Given the description of an element on the screen output the (x, y) to click on. 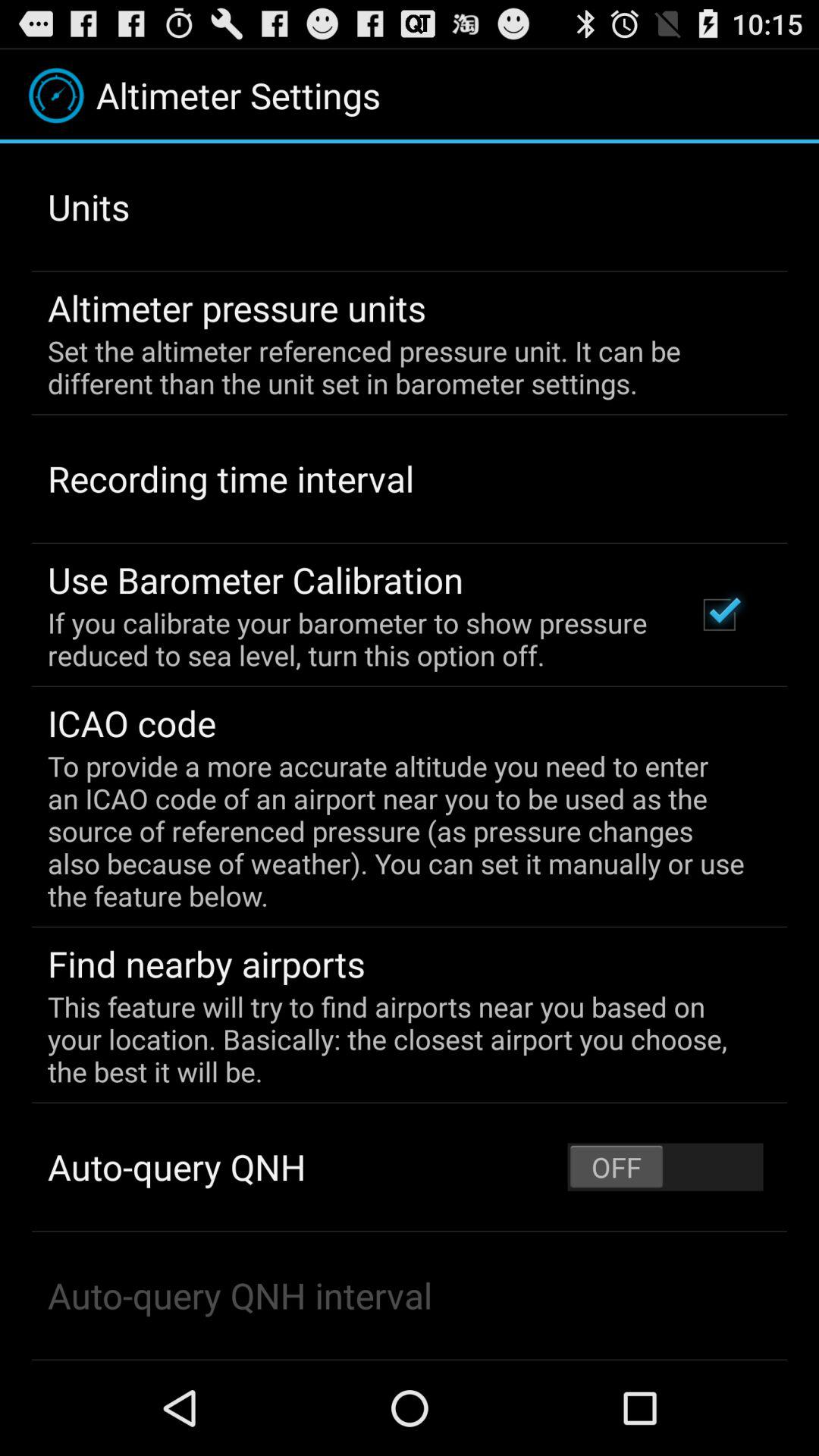
press the icon above the find nearby airports (399, 830)
